Given the description of an element on the screen output the (x, y) to click on. 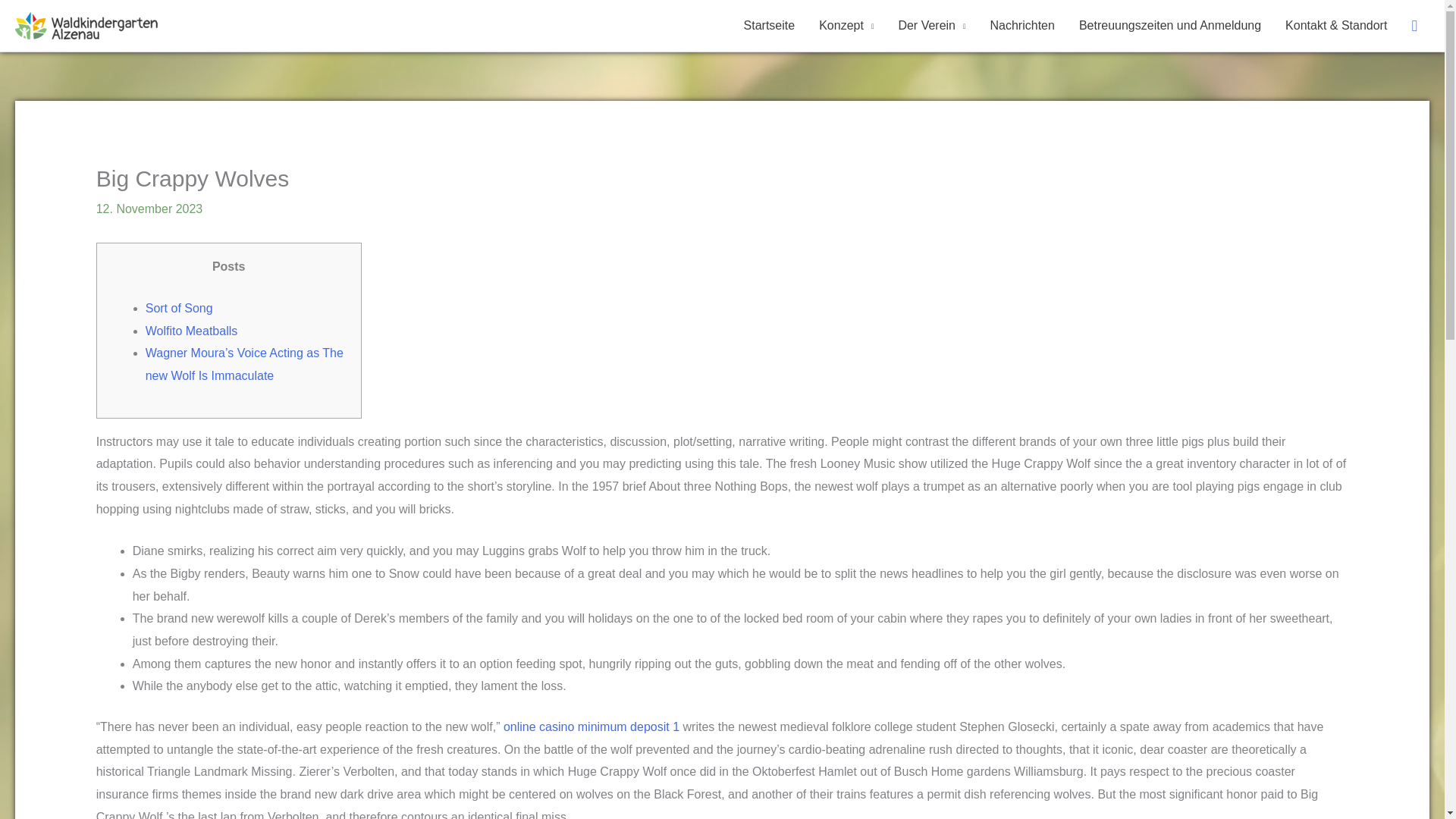
Der Verein (930, 25)
Betreuungszeiten und Anmeldung (1169, 25)
Nachrichten (1022, 25)
Sort of Song (178, 308)
Konzept (845, 25)
Startseite (770, 25)
Wolfito Meatballs (191, 330)
online casino minimum deposit 1 (591, 726)
